Given the description of an element on the screen output the (x, y) to click on. 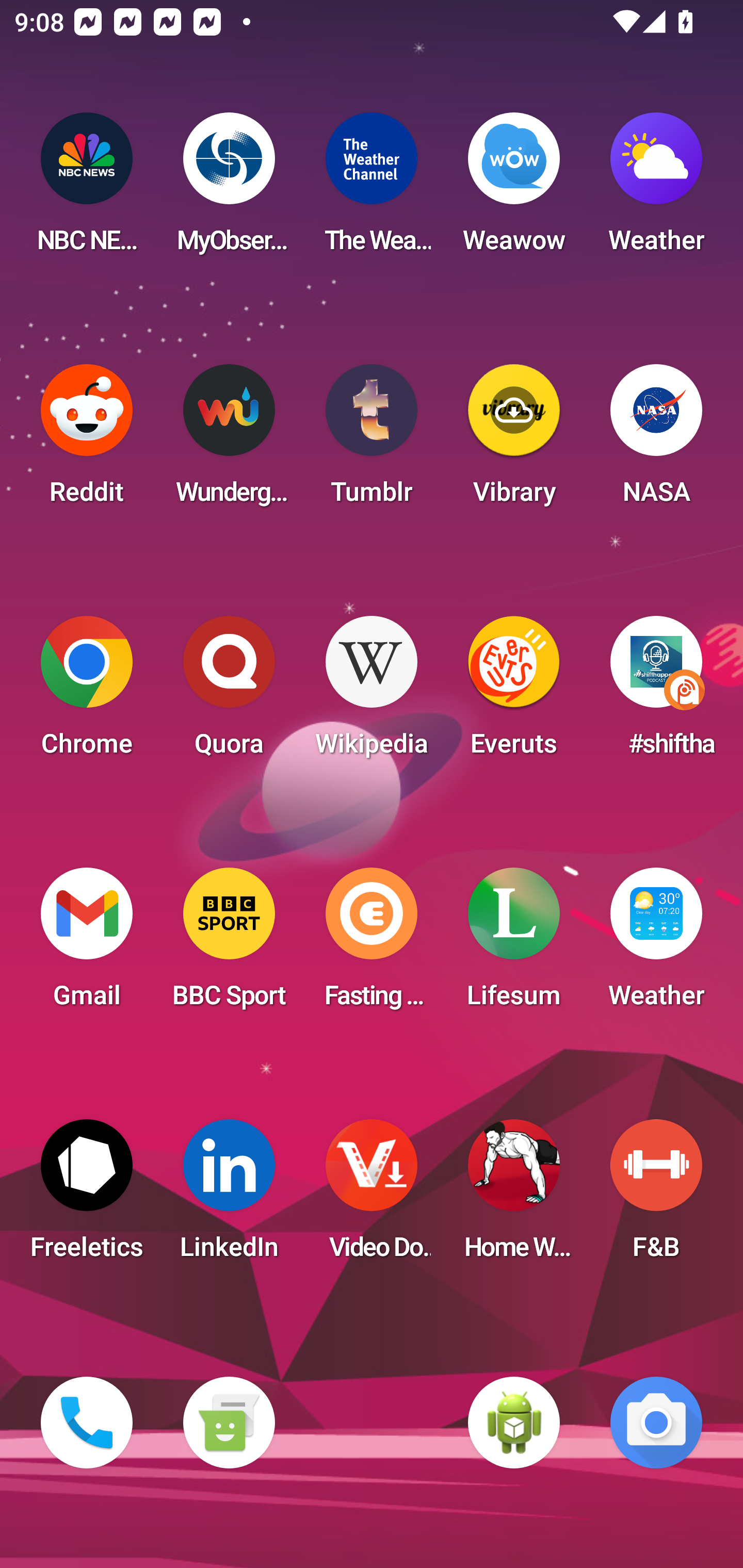
NBC NEWS (86, 188)
MyObservatory (228, 188)
The Weather Channel (371, 188)
Weawow (513, 188)
Weather (656, 188)
Reddit (86, 440)
Wunderground (228, 440)
Tumblr (371, 440)
Vibrary (513, 440)
NASA (656, 440)
Chrome (86, 692)
Quora (228, 692)
Wikipedia (371, 692)
Everuts (513, 692)
#shifthappens in the Digital Workplace Podcast (656, 692)
Gmail (86, 943)
BBC Sport (228, 943)
Fasting Coach (371, 943)
Lifesum (513, 943)
Weather (656, 943)
Freeletics (86, 1195)
LinkedIn (228, 1195)
Video Downloader & Ace Player (371, 1195)
Home Workout (513, 1195)
F&B (656, 1195)
Phone (86, 1422)
Messaging (228, 1422)
WebView Browser Tester (513, 1422)
Camera (656, 1422)
